Given the description of an element on the screen output the (x, y) to click on. 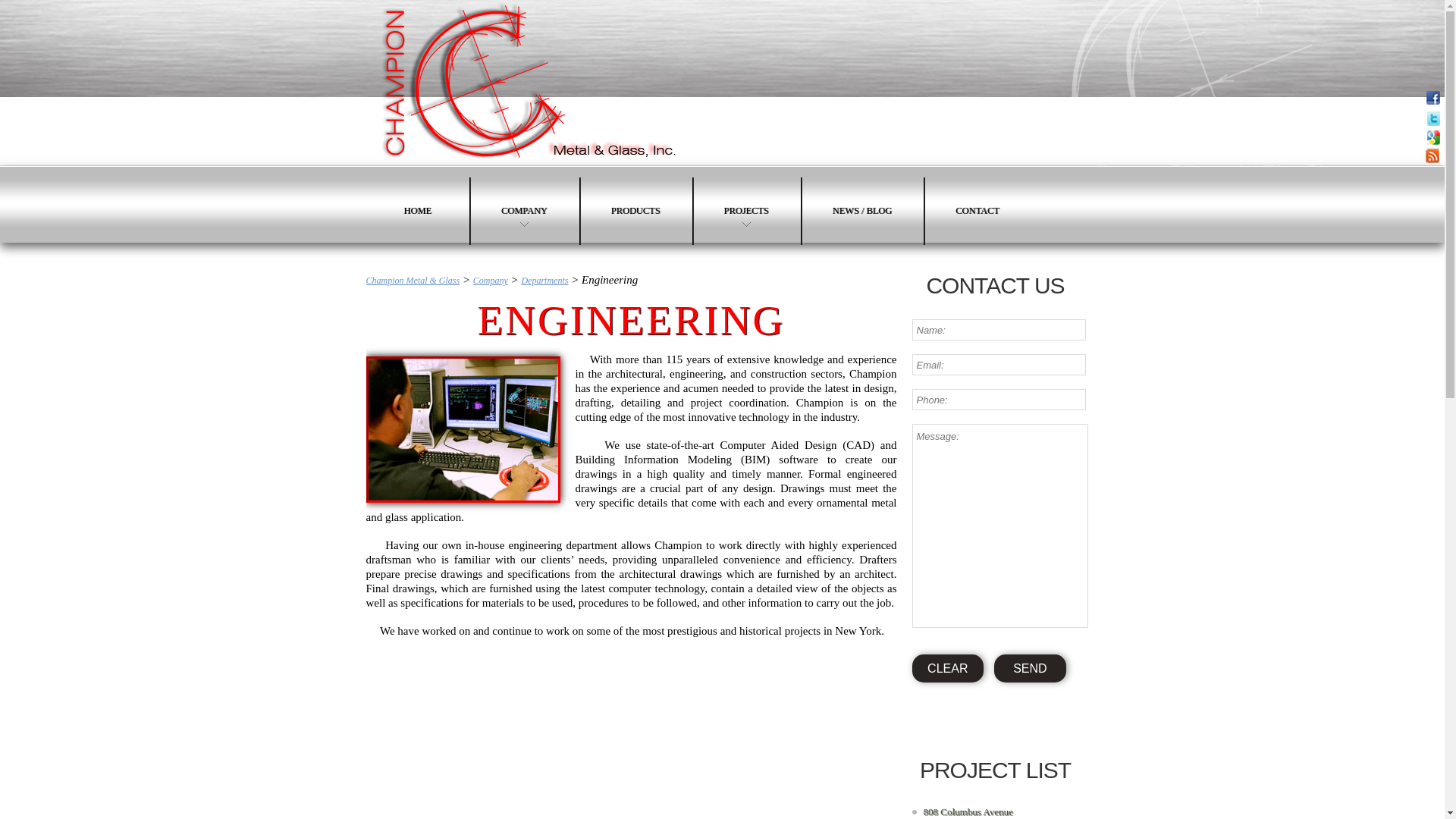
send (1029, 668)
HOME (416, 211)
PRODUCTS (636, 211)
send (1029, 668)
PROJECTS (746, 211)
Go to Departments. (544, 280)
clear (947, 668)
808 Columbus Avenue (968, 811)
CONTACT (976, 211)
Go to Company. (490, 280)
Departments (544, 280)
Architectural Glass and Metal (528, 83)
COMPANY (523, 211)
Company (490, 280)
